Given the description of an element on the screen output the (x, y) to click on. 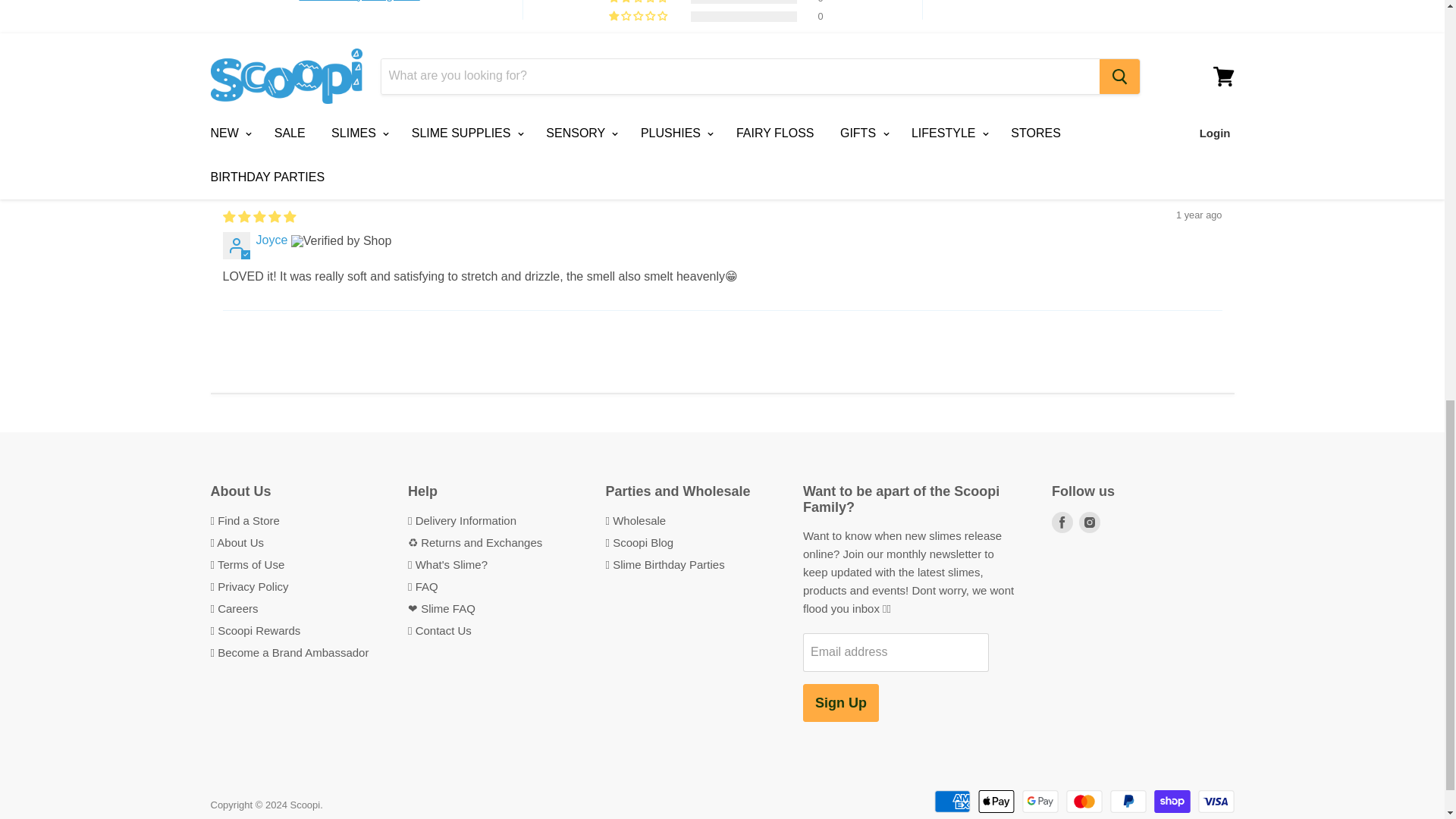
American Express (952, 801)
Instagram (1089, 522)
Facebook (1061, 522)
Apple Pay (996, 801)
